Given the description of an element on the screen output the (x, y) to click on. 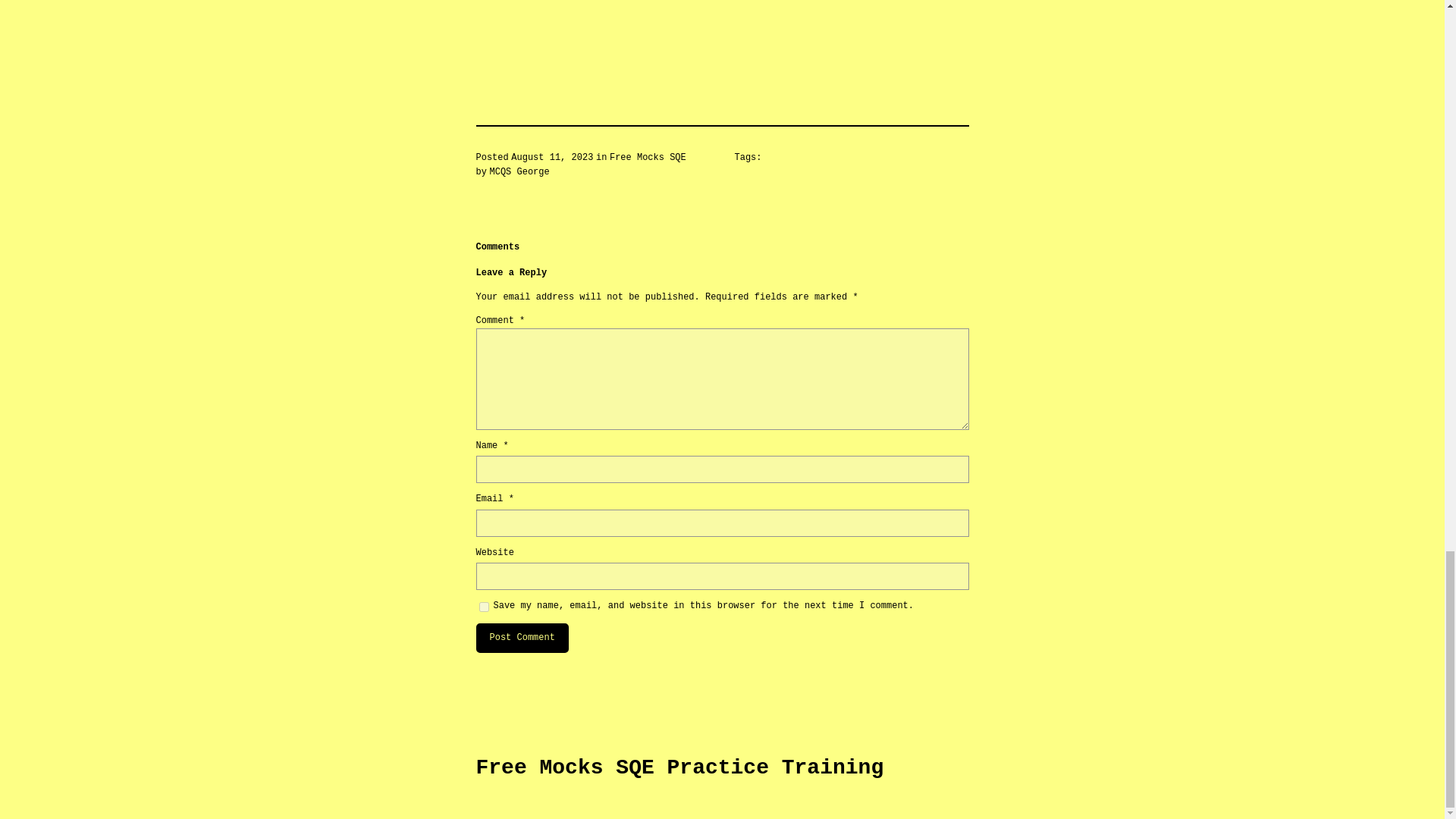
Free Mocks SQE (647, 157)
Post Comment (522, 637)
Post Comment (522, 637)
Free Mocks SQE Practice Training (679, 767)
yes (484, 606)
